Given the description of an element on the screen output the (x, y) to click on. 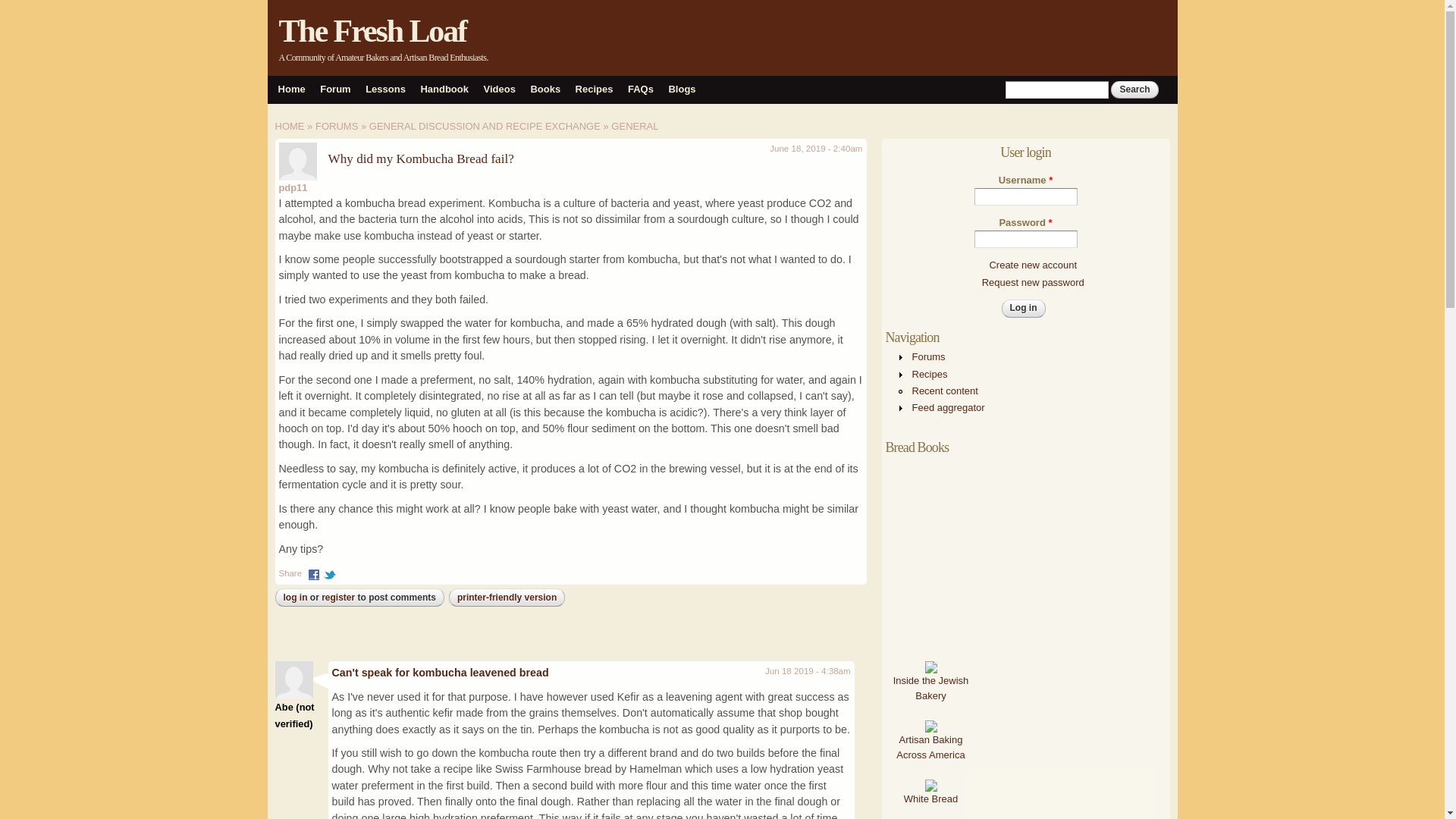
FAQs (640, 89)
Search (1133, 89)
Display a printer-friendly version of this page. (506, 597)
Can't speak for kombucha leavened bread (439, 672)
FORUMS (336, 125)
The Fresh Loaf (373, 30)
Log in (1023, 307)
Recipes (593, 89)
Blogs (681, 89)
Home (373, 30)
GENERAL (634, 125)
Forum (335, 89)
log in (295, 597)
Home (291, 89)
GENERAL DISCUSSION AND RECIPE EXCHANGE (484, 125)
